Given the description of an element on the screen output the (x, y) to click on. 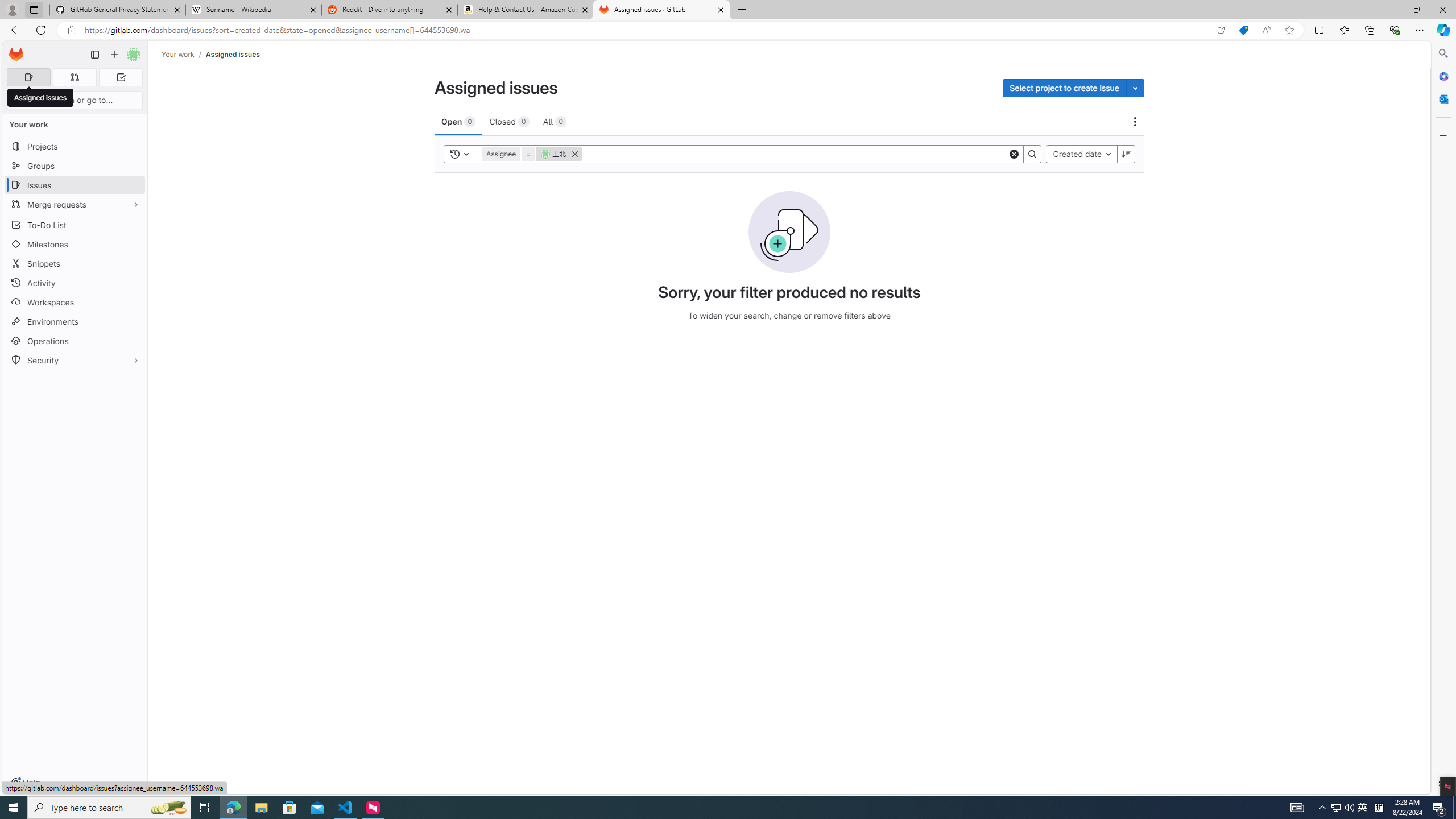
Select project to create issue (1064, 87)
Create new... (113, 54)
Issues (74, 185)
Projects (74, 145)
To-Do list 0 (120, 76)
Your work/ (183, 53)
Activity (74, 282)
